Given the description of an element on the screen output the (x, y) to click on. 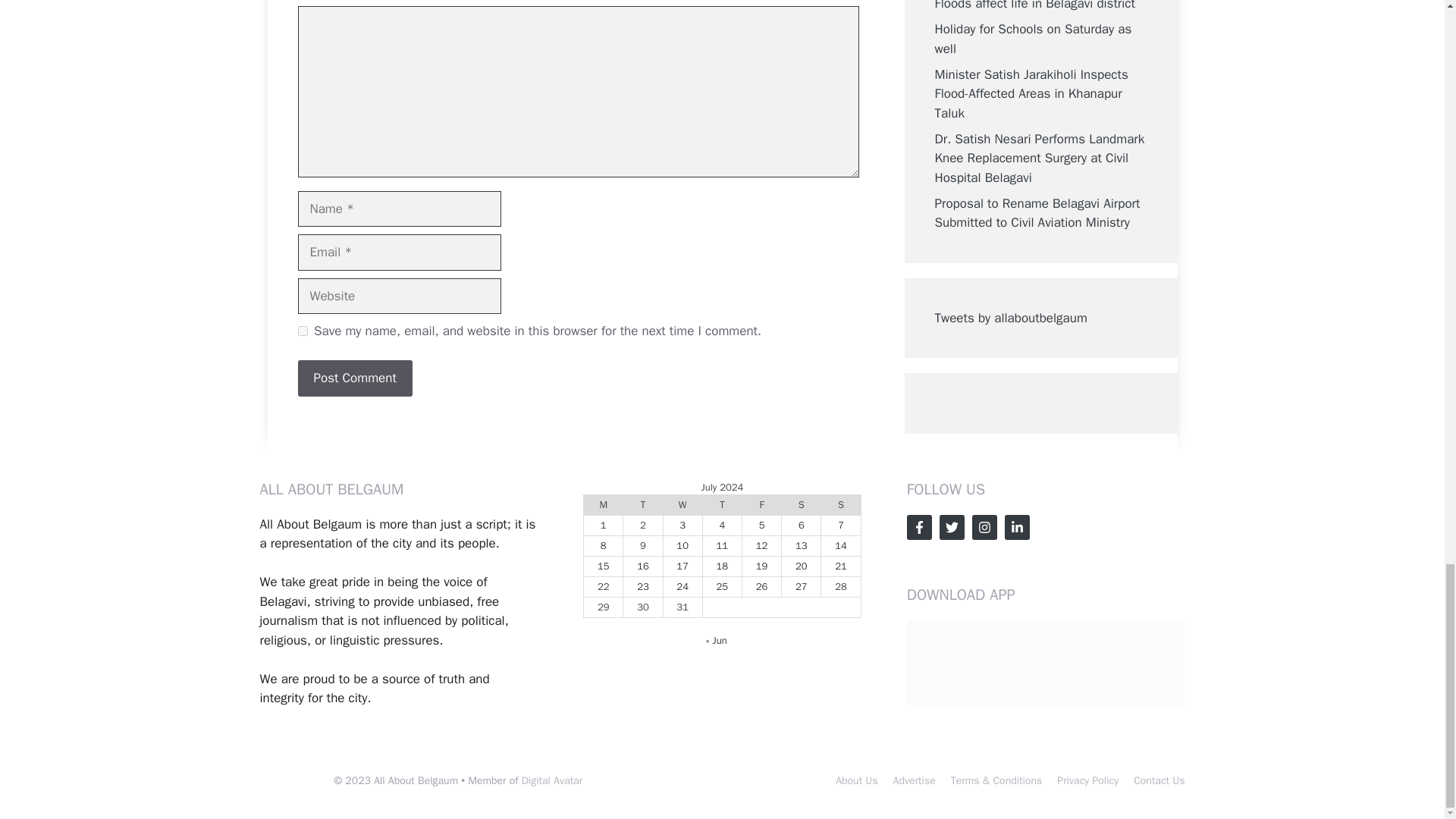
Thursday (721, 505)
6 (801, 524)
Tuesday (642, 505)
1 (603, 524)
Wednesday (681, 505)
Monday (603, 505)
3 (682, 524)
7 (841, 524)
8 (603, 545)
11 (722, 545)
4 (722, 524)
Saturday (801, 505)
10 (682, 545)
5 (761, 524)
Friday (760, 505)
